Given the description of an element on the screen output the (x, y) to click on. 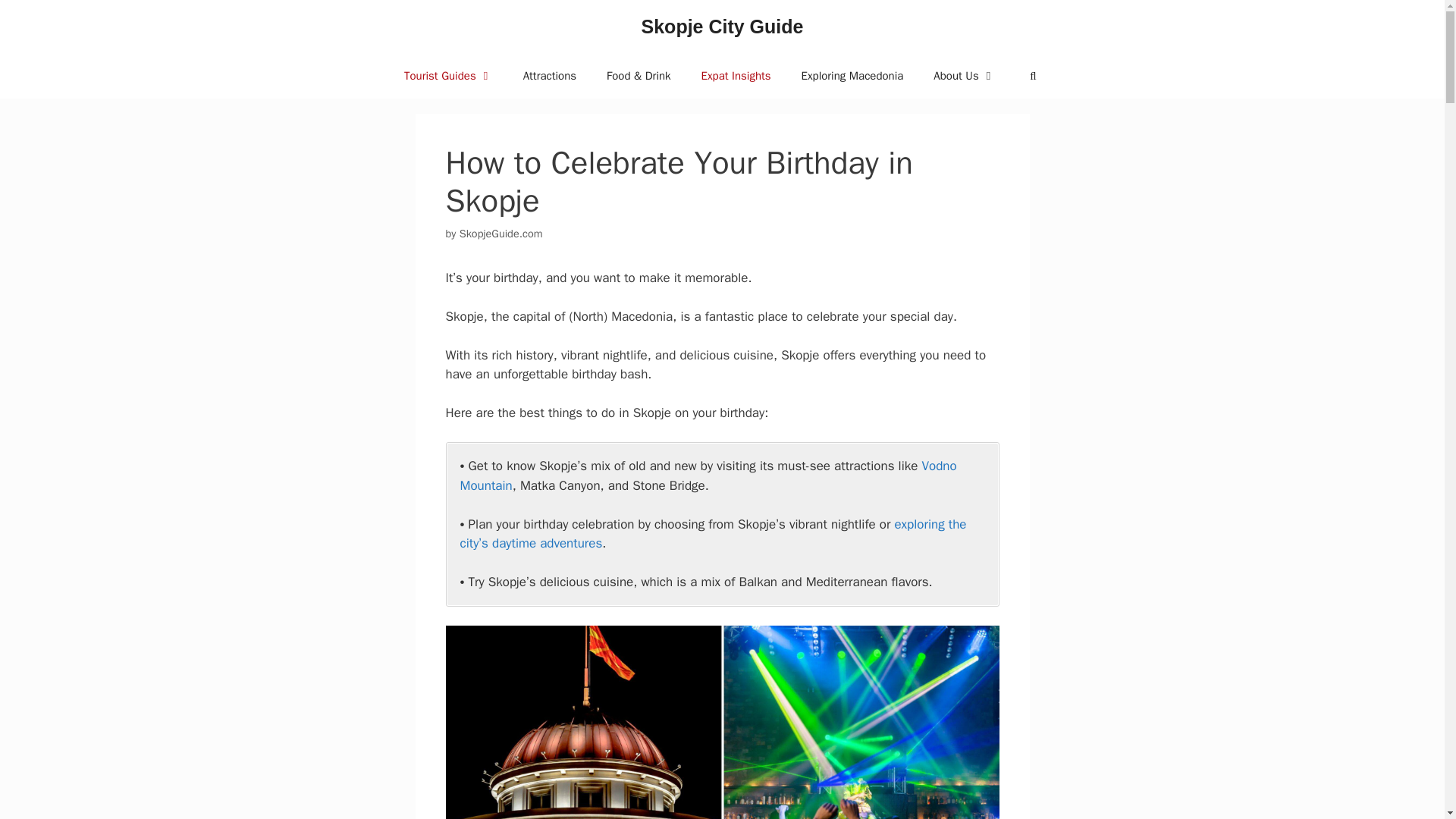
Skopje City Guide (722, 25)
Vodno Mountain (708, 475)
Expat Insights (735, 75)
Tourist Guides (448, 75)
About Us (964, 75)
Attractions (549, 75)
View all posts by SkopjeGuide.com (501, 233)
SkopjeGuide.com (501, 233)
Exploring Macedonia (852, 75)
